Given the description of an element on the screen output the (x, y) to click on. 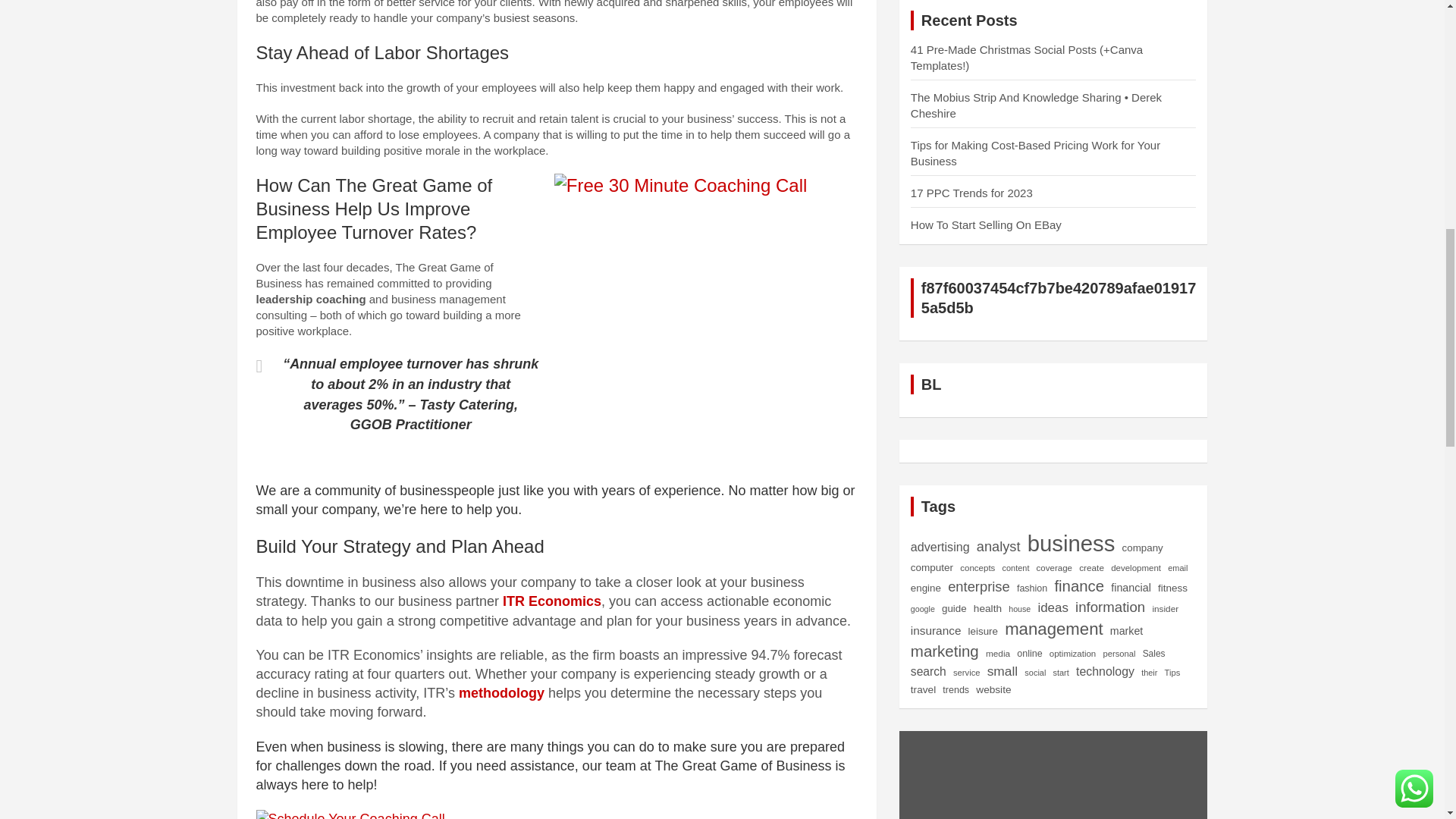
methodology (501, 693)
ITR Economics (551, 601)
